Given the description of an element on the screen output the (x, y) to click on. 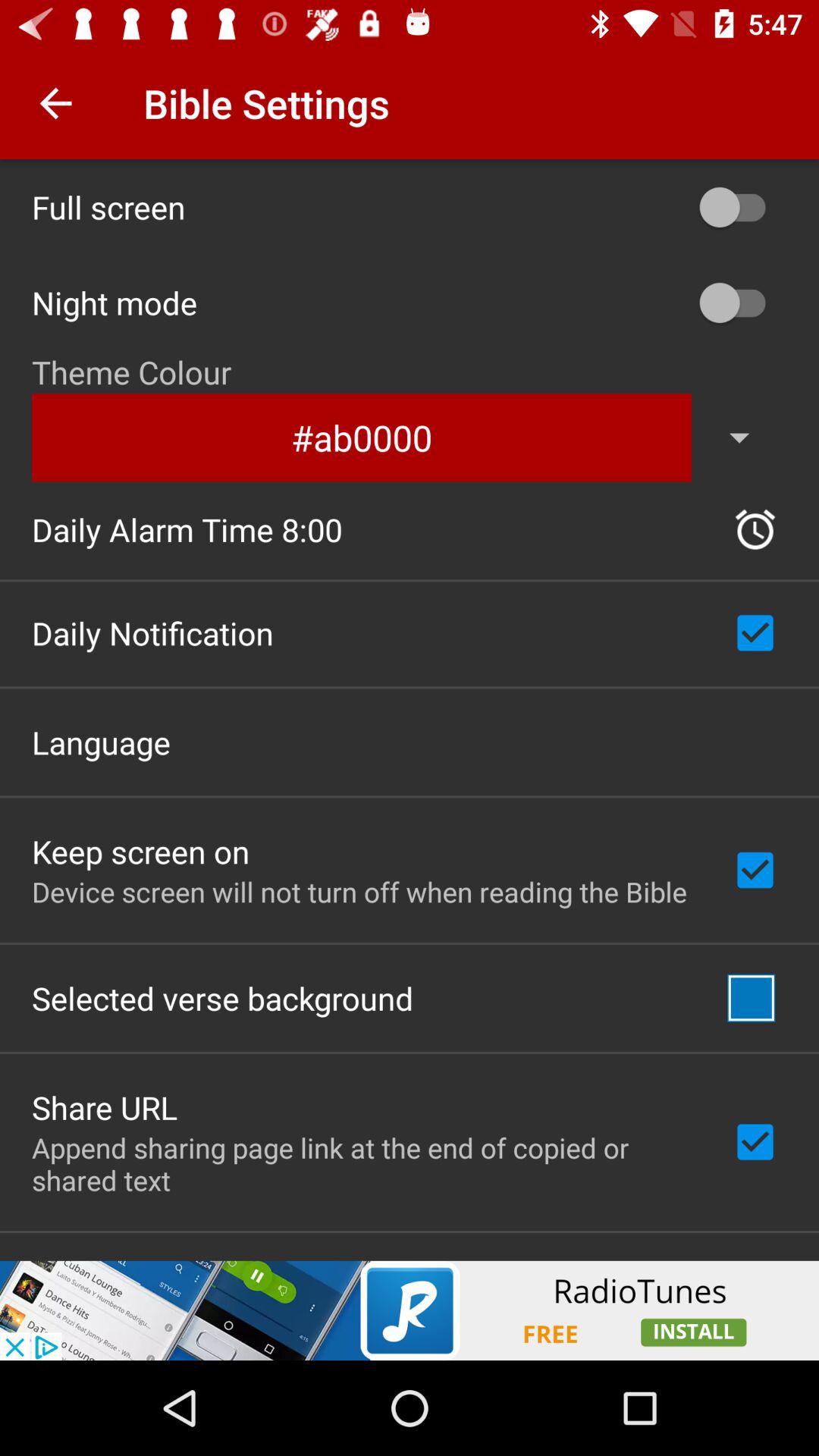
advertisement (409, 1310)
